Given the description of an element on the screen output the (x, y) to click on. 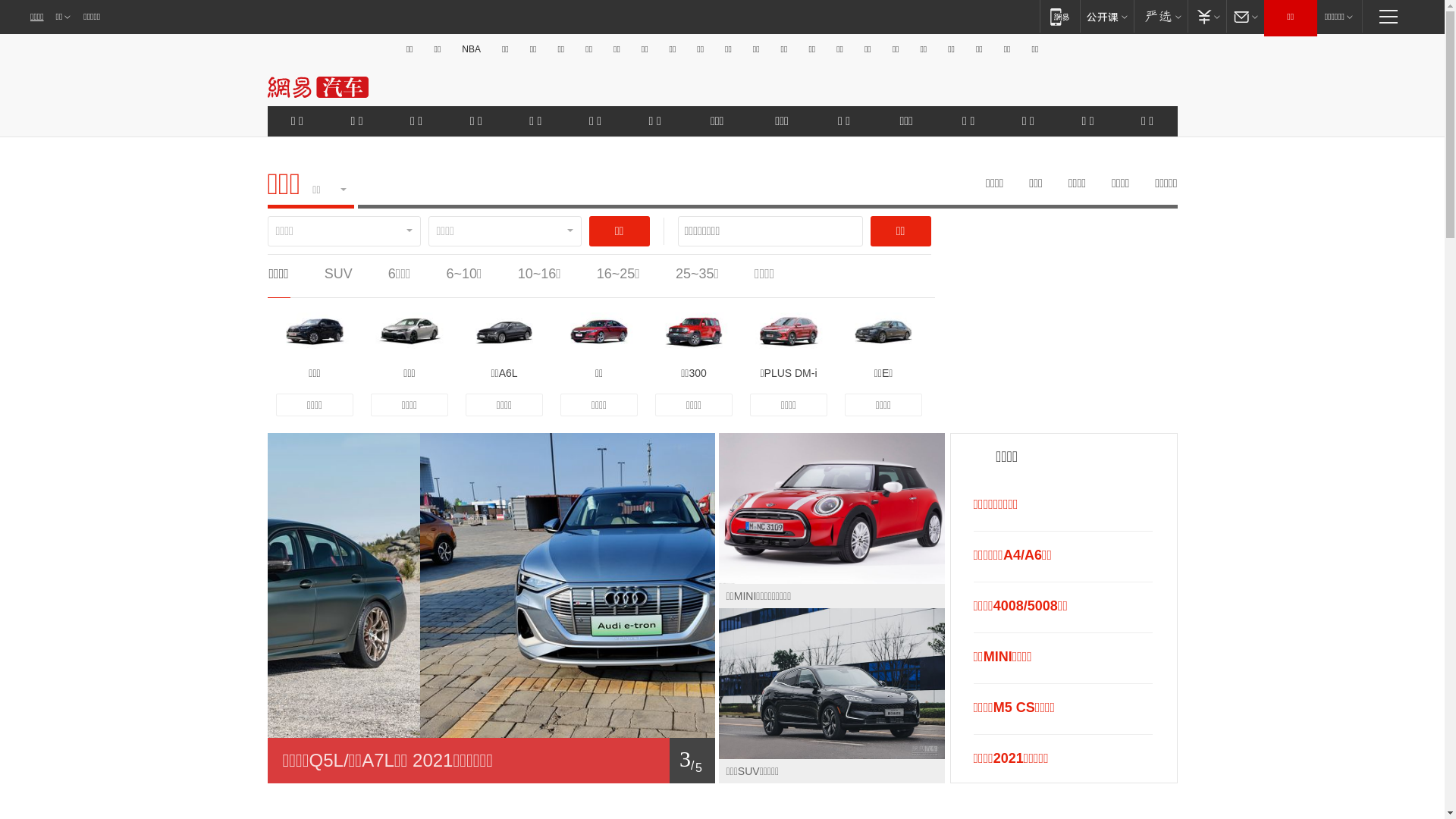
1/ 5 Element type: text (490, 760)
NBA Element type: text (471, 48)
SUV Element type: text (338, 273)
